Given the description of an element on the screen output the (x, y) to click on. 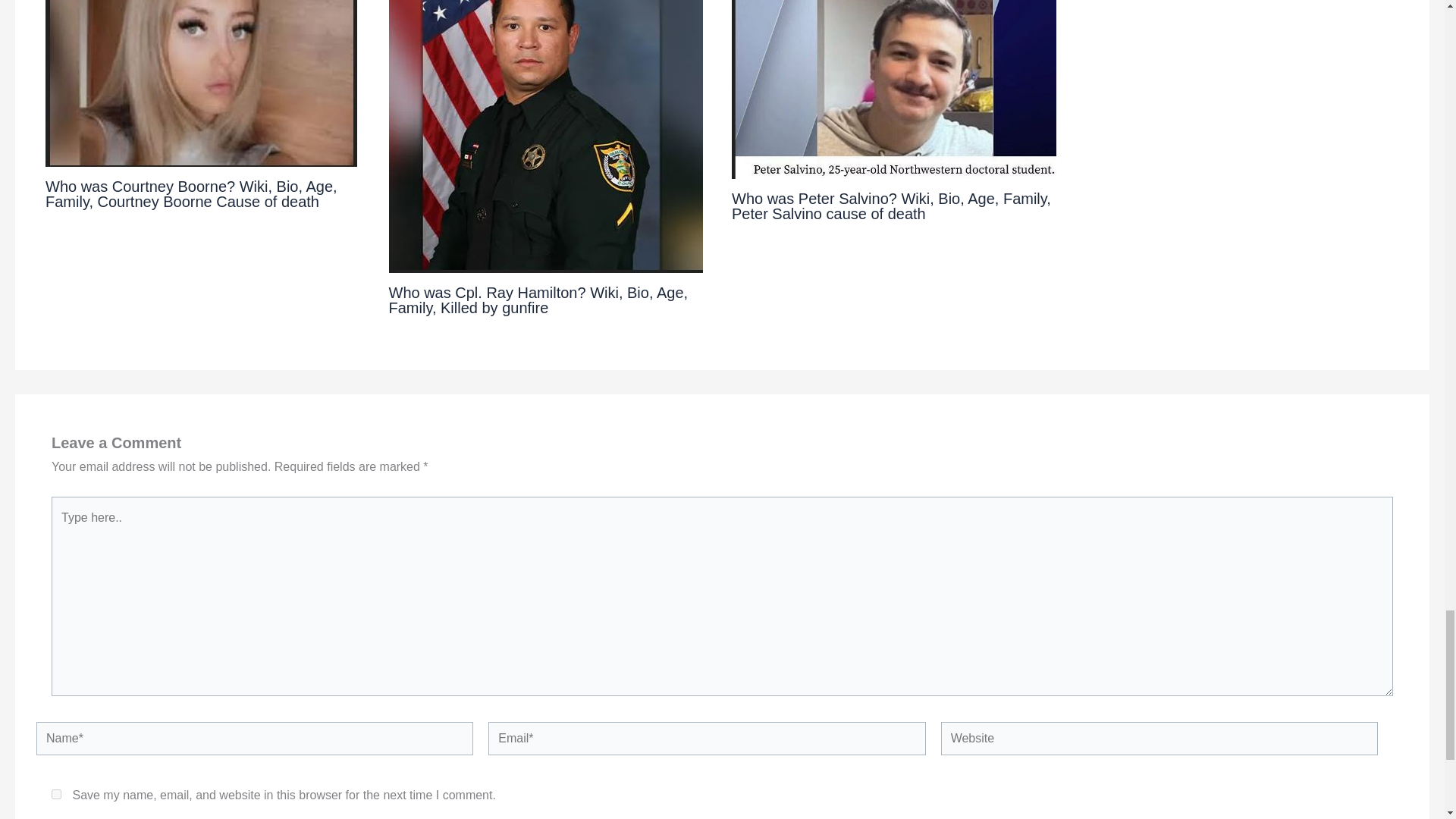
yes (55, 794)
